Given the description of an element on the screen output the (x, y) to click on. 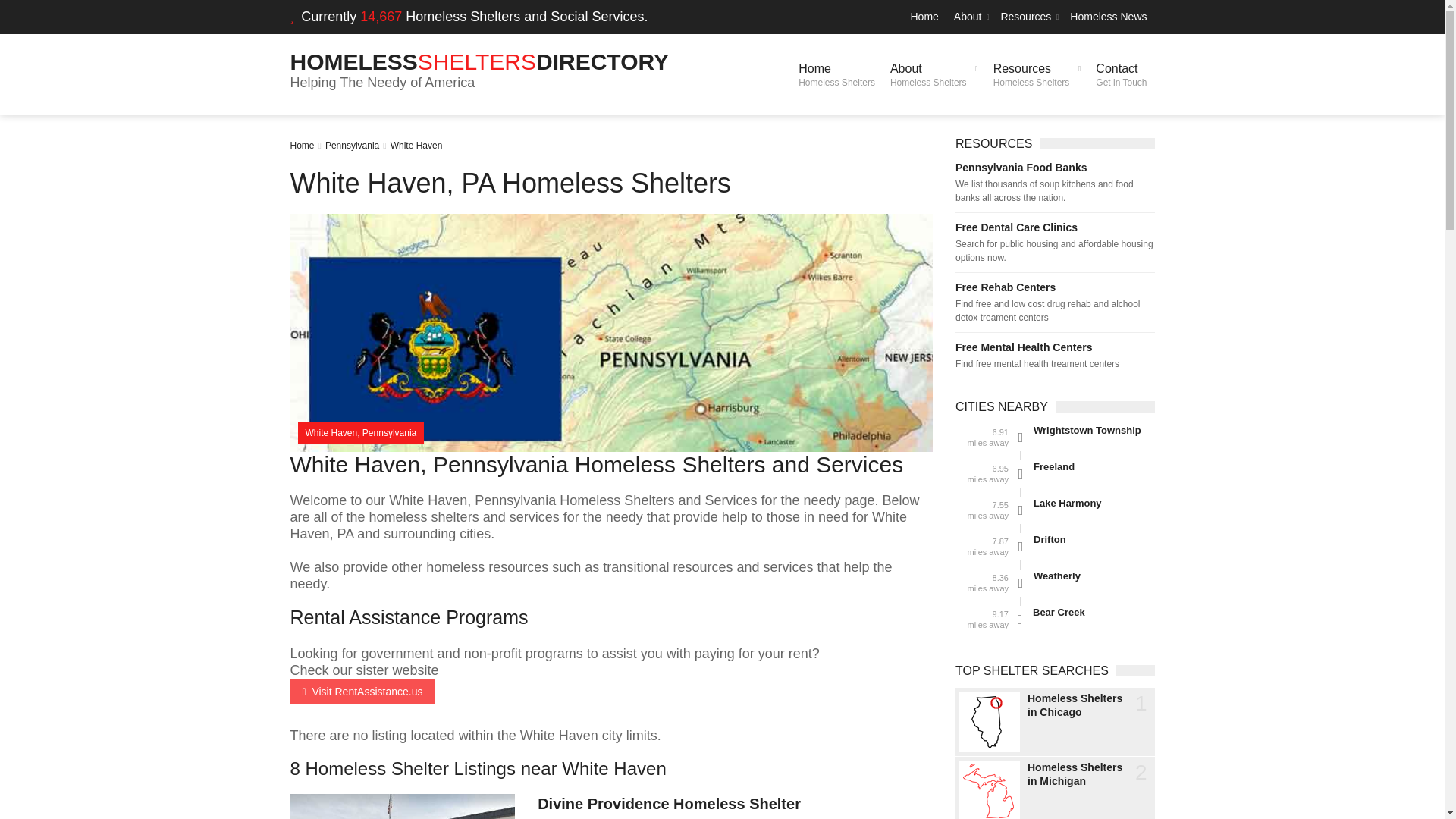
Home (923, 17)
  Visit RentAssistance.us (361, 691)
Home (301, 145)
About (969, 17)
Pennsylvania (933, 74)
HOMELESSSHELTERSDIRECTORY (351, 145)
Resources (478, 61)
White Haven (1027, 17)
